Given the description of an element on the screen output the (x, y) to click on. 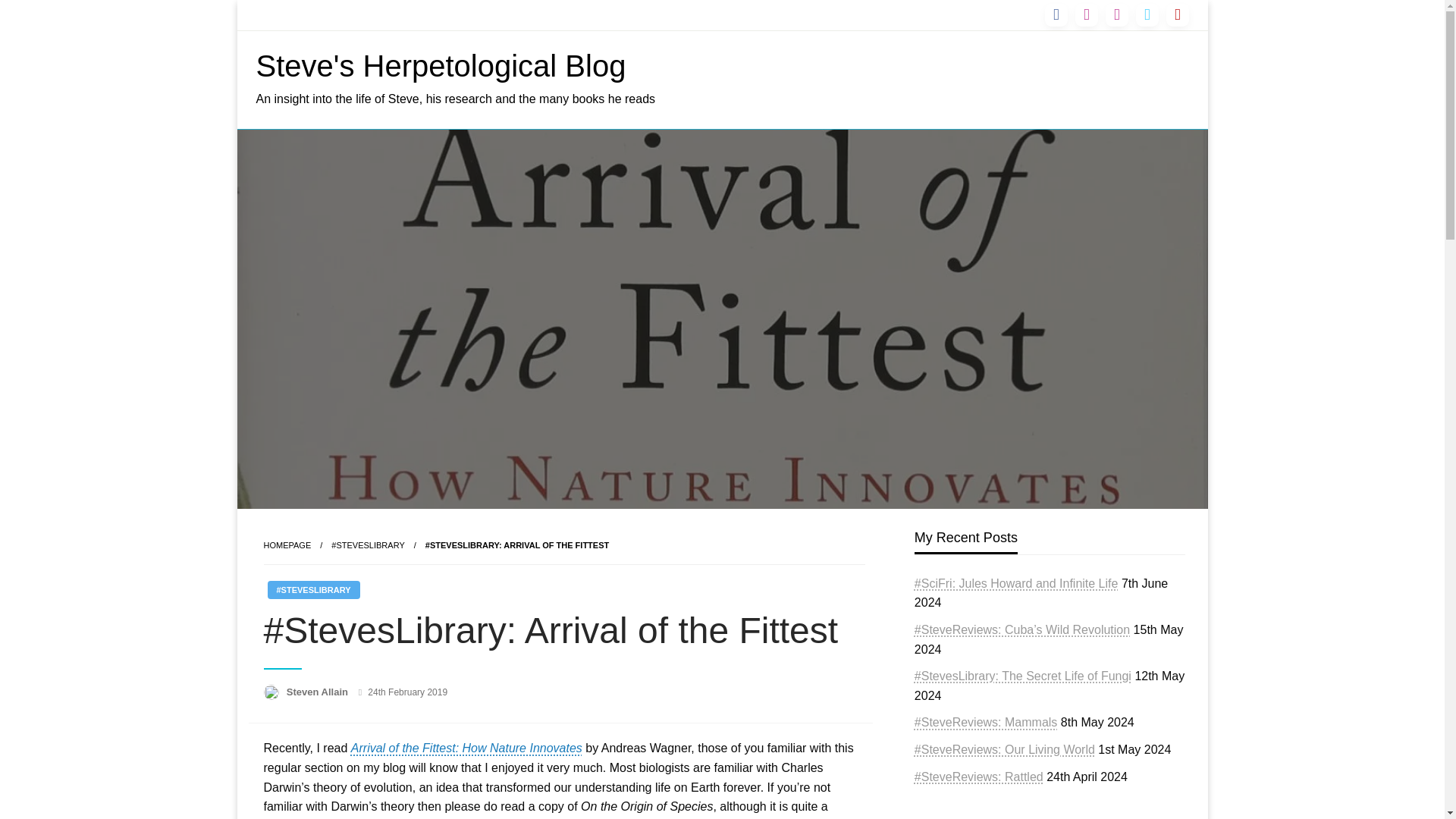
Steve's Herpetological Blog (441, 65)
Steven Allain (318, 691)
Homepage (287, 544)
